Given the description of an element on the screen output the (x, y) to click on. 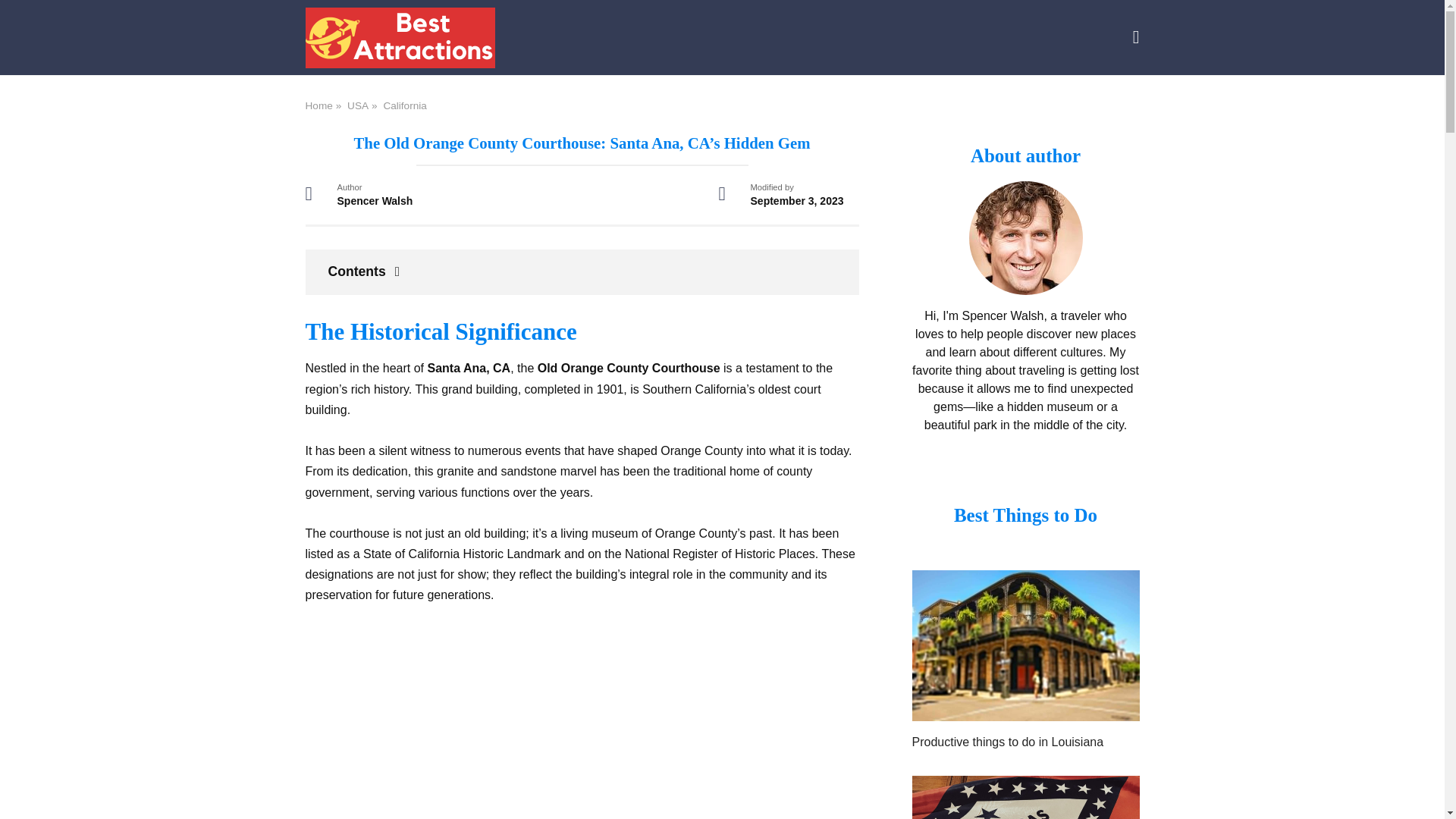
USA (357, 105)
Home (317, 105)
Productive things to do in Louisiana (1024, 711)
Productive things to do in Louisiana 8 (1024, 645)
The Old Orange County Courthouse (581, 722)
California (404, 105)
